Given the description of an element on the screen output the (x, y) to click on. 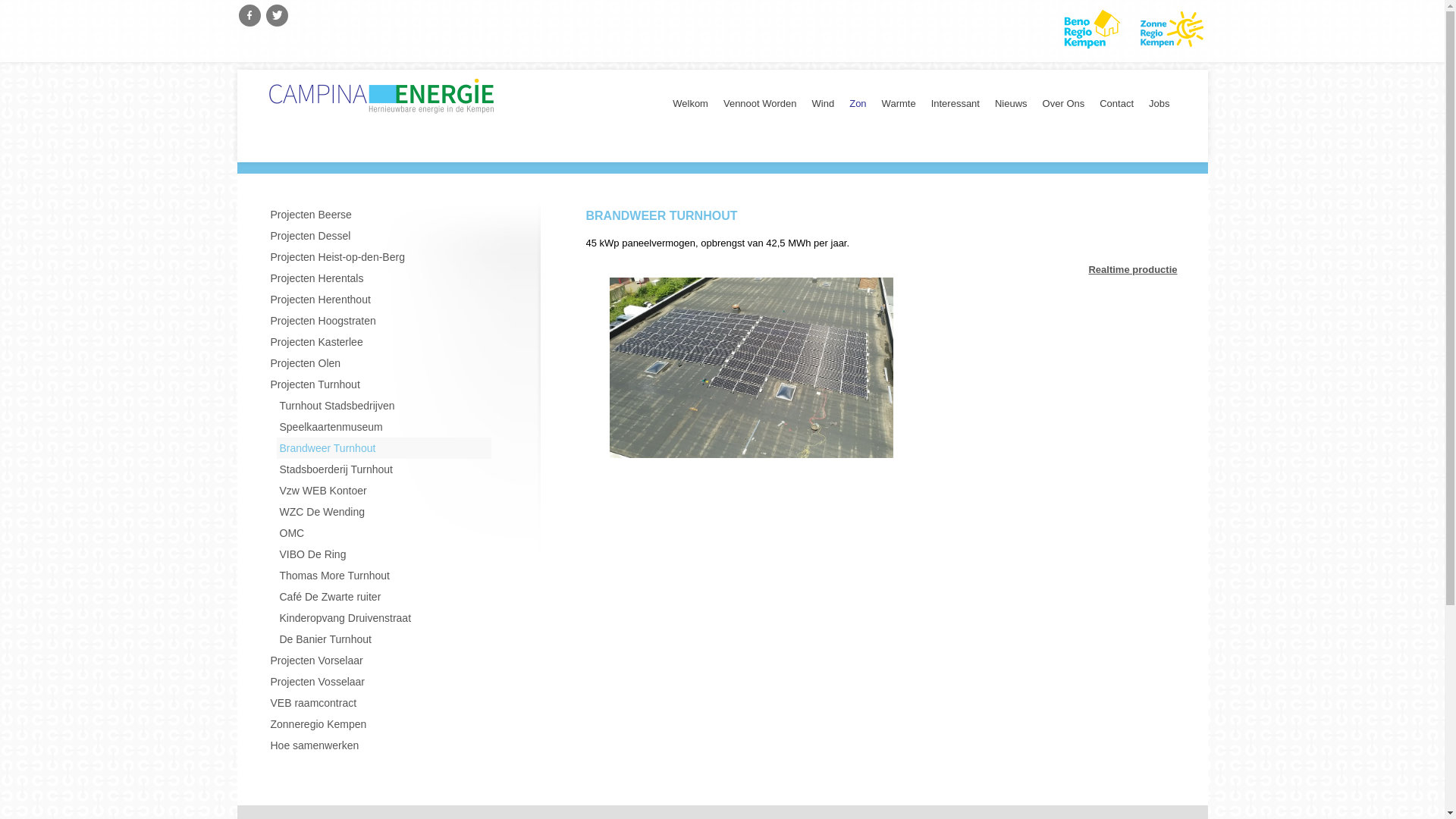
Realtime productie Element type: text (1132, 269)
Projecten Vosselaar Element type: text (378, 681)
brandweer.JPG Element type: hover (751, 367)
Projecten Vorselaar Element type: text (378, 660)
Projecten Hoogstraten Element type: text (378, 320)
Vzw WEB Kontoer Element type: text (383, 490)
Turnhout Stadsbedrijven Element type: text (383, 405)
Over Ons Element type: text (1063, 107)
Projecten Herentals Element type: text (378, 277)
Thomas More Turnhout Element type: text (383, 575)
VEB raamcontract Element type: text (378, 702)
WZC De Wending Element type: text (383, 511)
Zonneregio Kempen Element type: text (378, 723)
Warmte Element type: text (898, 107)
Nieuws Element type: text (1011, 107)
Projecten Herenthout Element type: text (378, 299)
VIBO De Ring Element type: text (383, 553)
Projecten Dessel Element type: text (378, 235)
OMC Element type: text (383, 532)
Kinderopvang Druivenstraat Element type: text (383, 617)
Projecten Beerse Element type: text (378, 214)
De Banier Turnhout Element type: text (383, 638)
Interessant Element type: text (955, 107)
Projecten Olen Element type: text (378, 362)
Stadsboerderij Turnhout Element type: text (383, 469)
Vennoot Worden Element type: text (759, 107)
Jobs Element type: text (1158, 107)
Zon Element type: text (857, 107)
Contact Element type: text (1116, 107)
Brandweer Turnhout Element type: text (383, 447)
Projecten Kasterlee Element type: text (378, 341)
Wind Element type: text (823, 107)
Welkom Element type: text (690, 107)
Speelkaartenmuseum Element type: text (383, 426)
Hoe samenwerken Element type: text (378, 745)
Projecten Turnhout Element type: text (378, 384)
Projecten Heist-op-den-Berg Element type: text (378, 256)
